Given the description of an element on the screen output the (x, y) to click on. 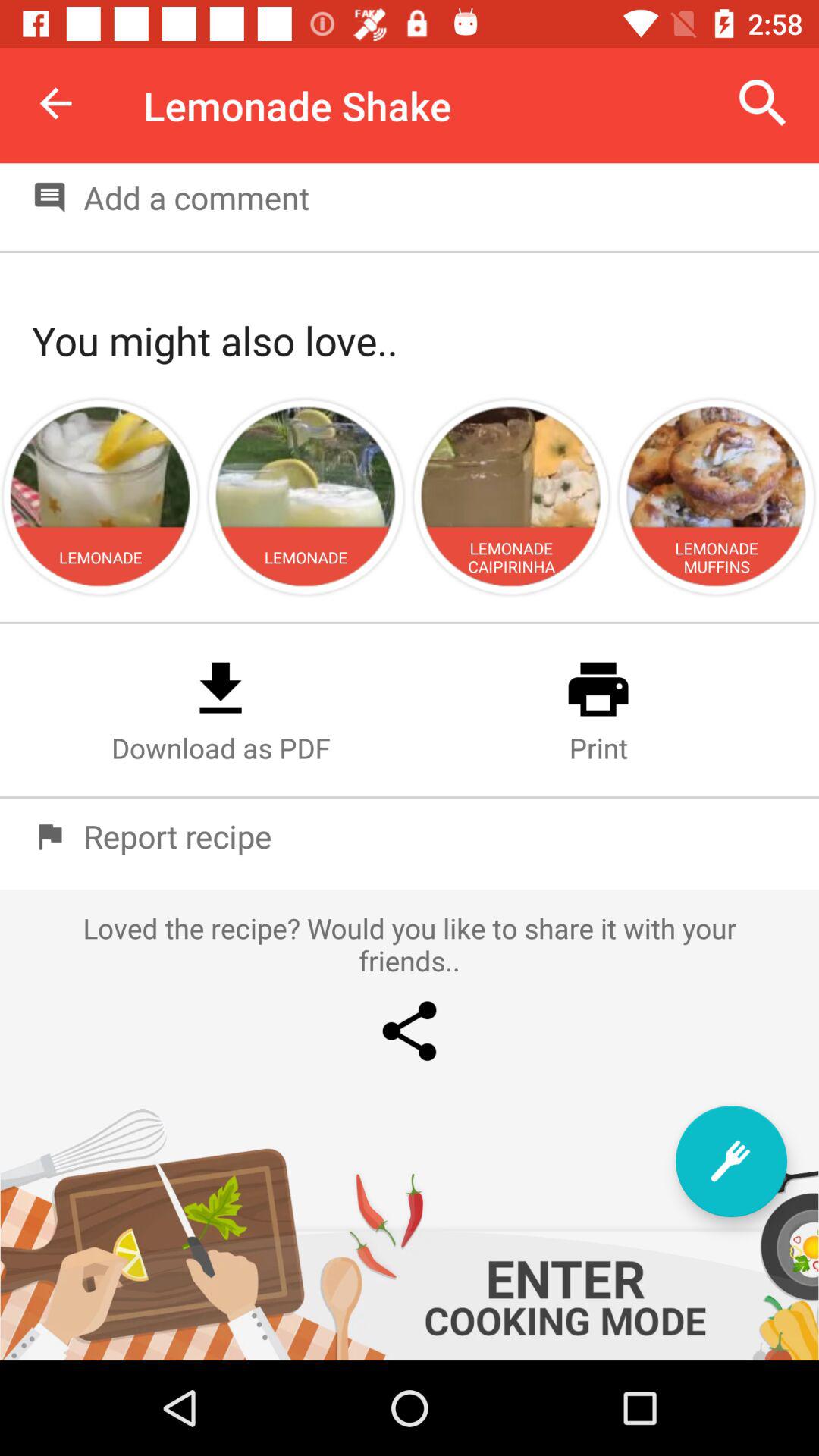
choose the icon above the add a comment icon (763, 103)
